Given the description of an element on the screen output the (x, y) to click on. 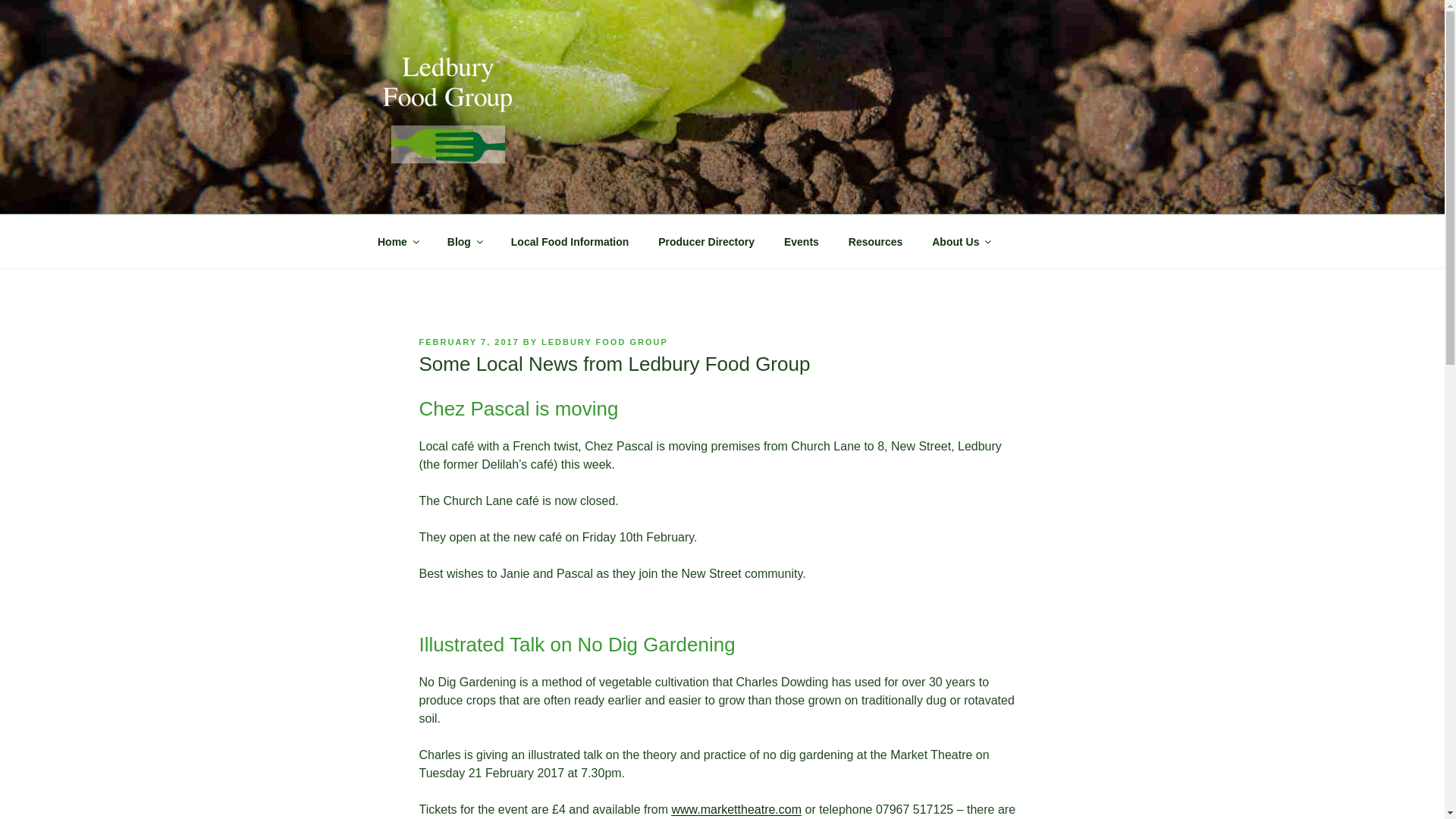
Blog (464, 241)
Home (397, 241)
www.markettheatre.com (736, 809)
About Us (960, 241)
LEDBURY FOOD GROUP (604, 341)
Events (800, 241)
Local Food Information (569, 241)
Producer Directory (706, 241)
FEBRUARY 7, 2017 (468, 341)
Resources (874, 241)
